Given the description of an element on the screen output the (x, y) to click on. 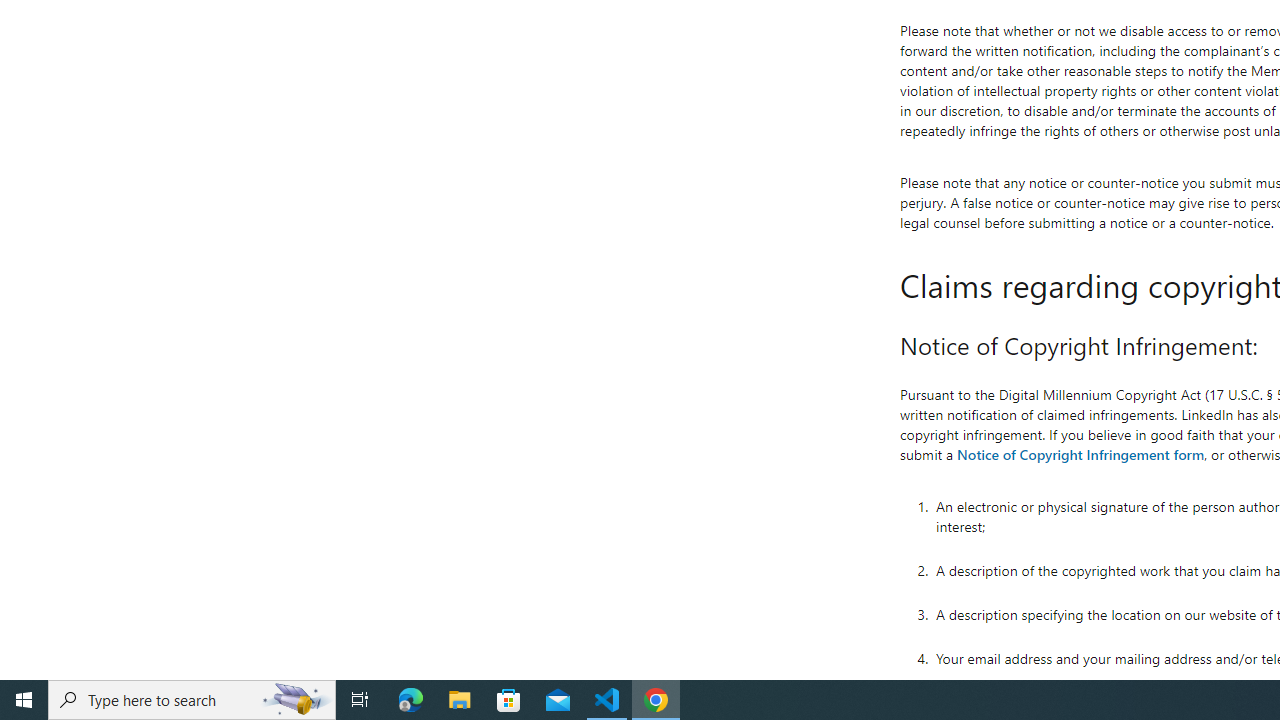
Notice of Copyright Infringement form (1080, 453)
